Given the description of an element on the screen output the (x, y) to click on. 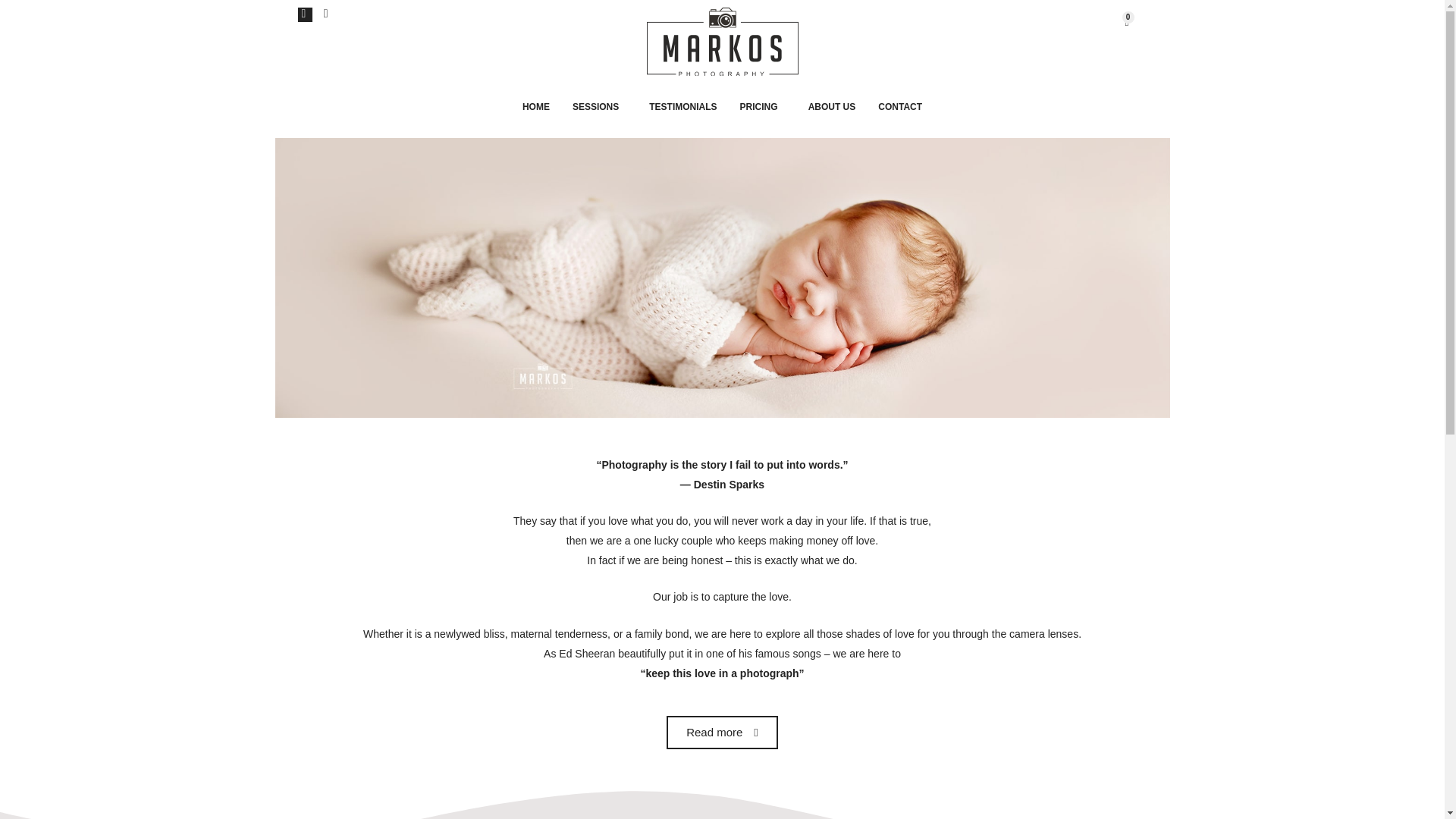
ABOUT US (831, 106)
SESSIONS (598, 106)
PRICING (762, 106)
TESTIMONIALS (682, 106)
CONTACT (899, 106)
Read more (721, 732)
HOME (535, 106)
